Given the description of an element on the screen output the (x, y) to click on. 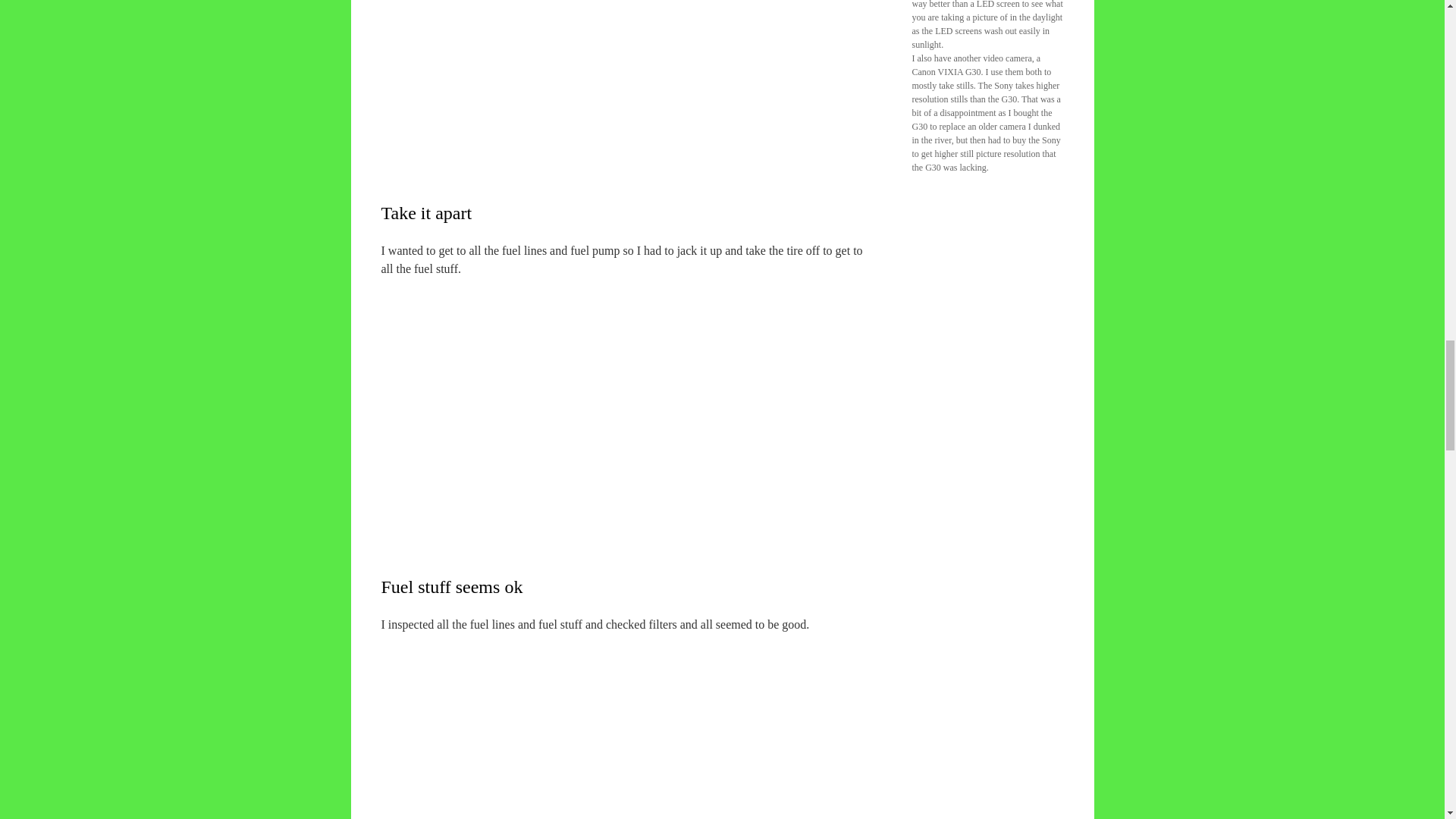
jackedup (630, 395)
washed (630, 69)
gaslines (630, 726)
